Given the description of an element on the screen output the (x, y) to click on. 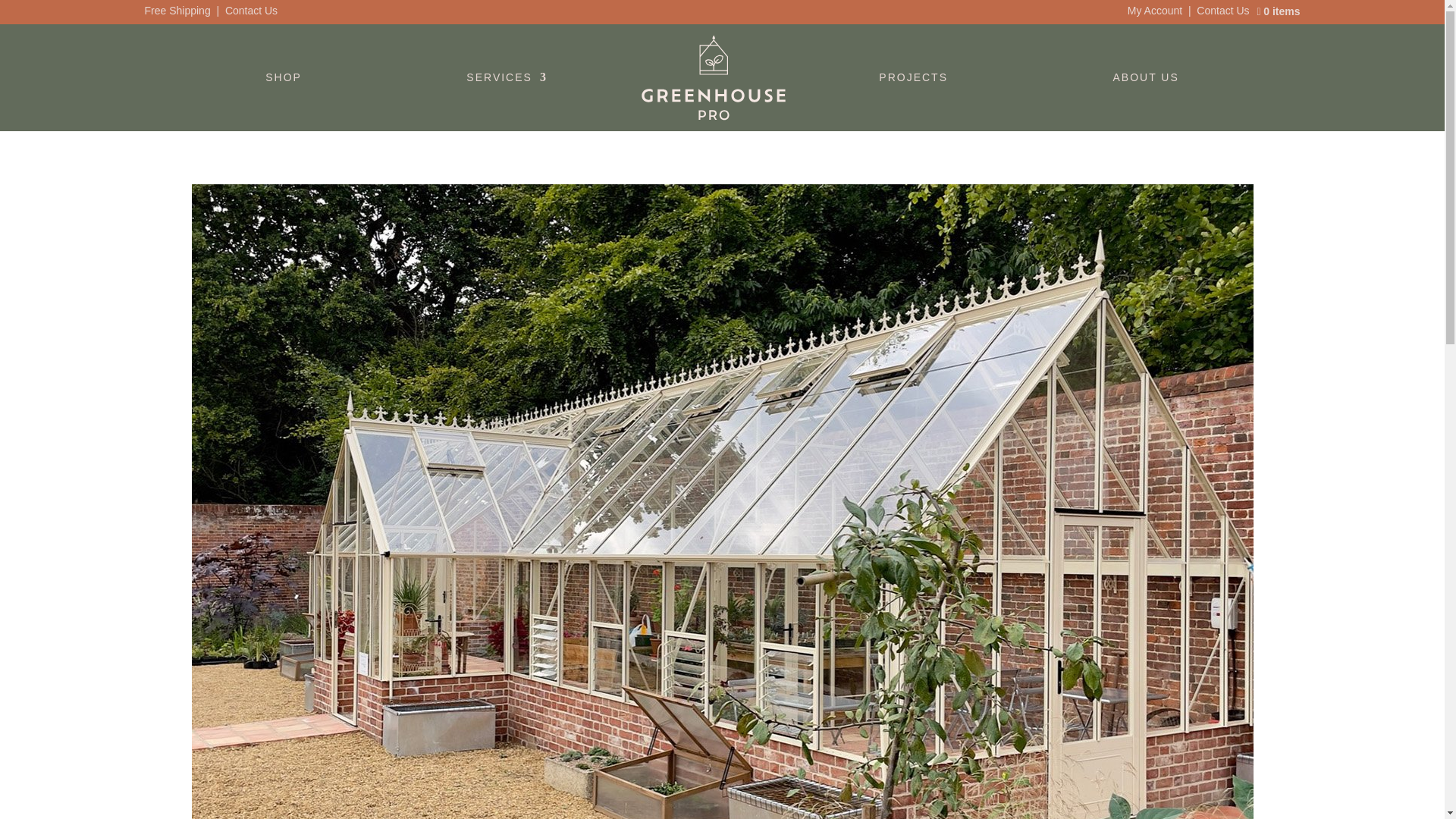
0 items (1278, 14)
Contact Us (251, 10)
Start shopping (1278, 14)
My Account (1154, 10)
Contact Us (1222, 10)
